Given the description of an element on the screen output the (x, y) to click on. 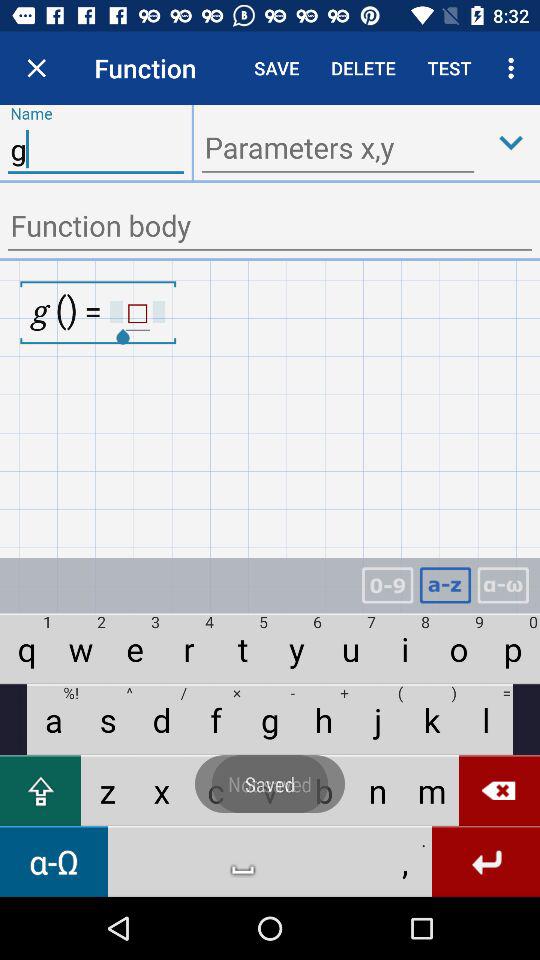
switch to letter mode (445, 585)
